Given the description of an element on the screen output the (x, y) to click on. 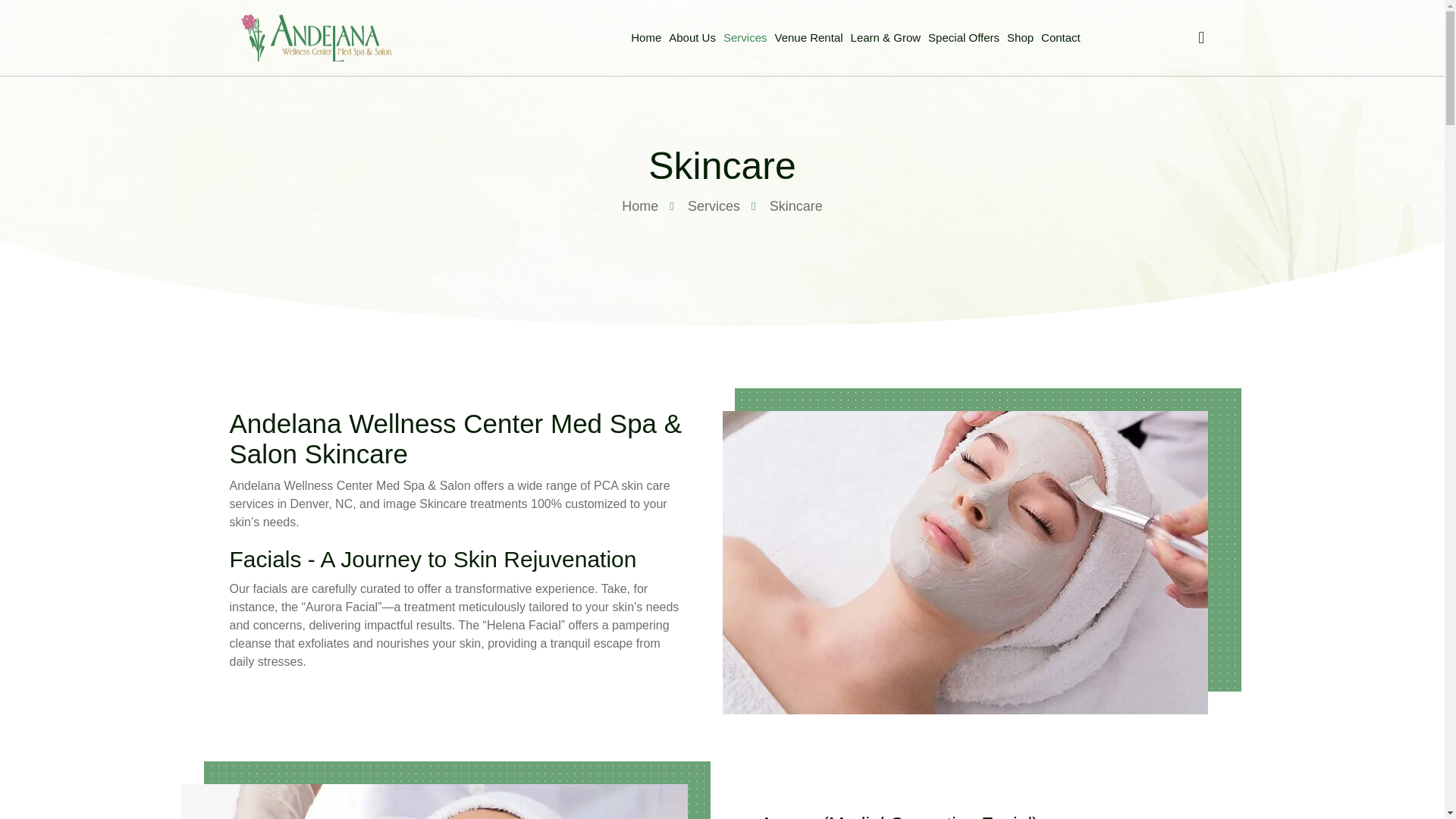
Venue Rental (807, 38)
Services (704, 205)
Skincare (786, 205)
Skincare (721, 165)
Home (639, 205)
Special Offers (963, 38)
